Given the description of an element on the screen output the (x, y) to click on. 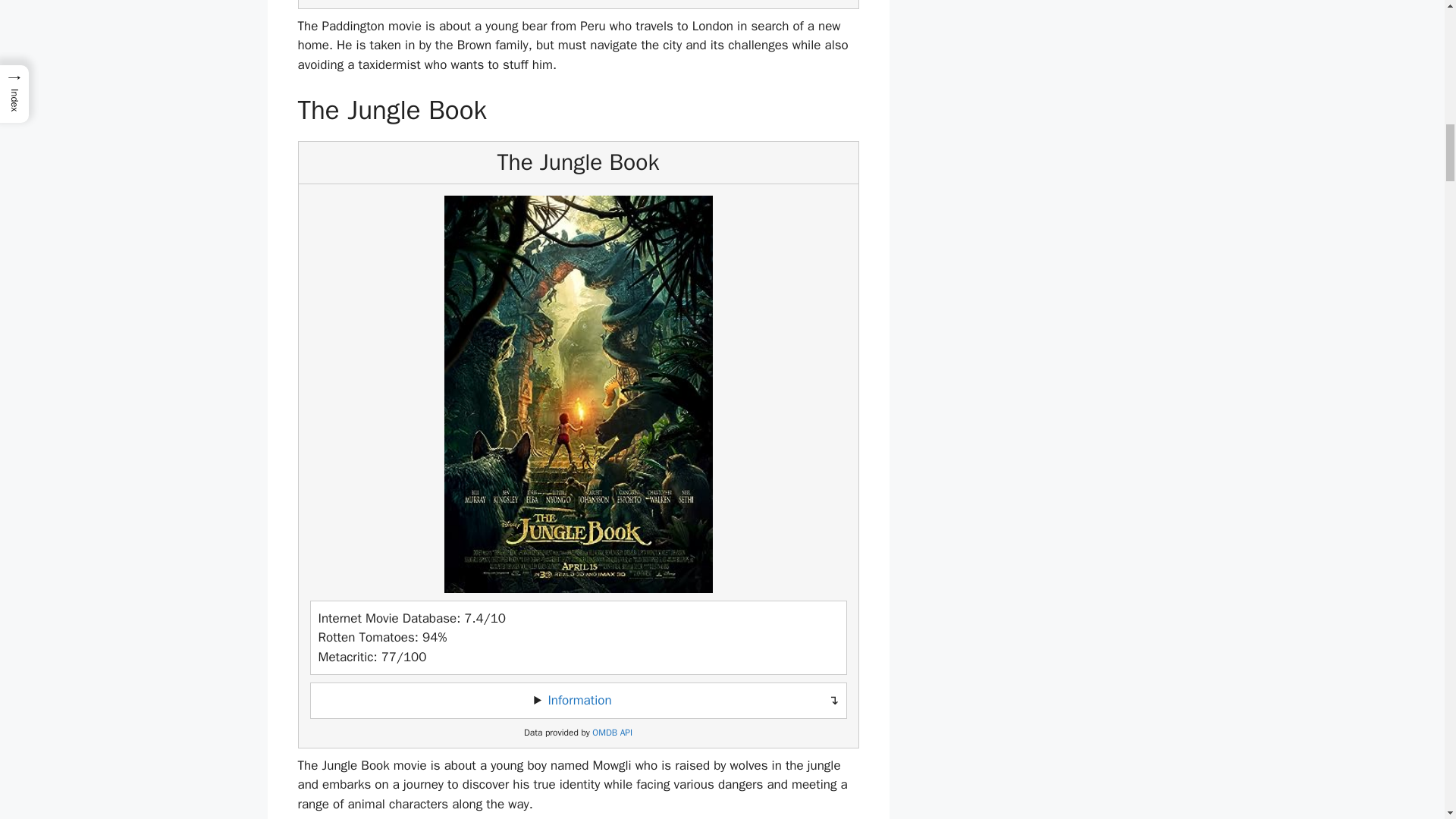
Toggle information (578, 700)
Information (579, 700)
OMDB API (611, 732)
Open Movie Database API (611, 732)
